Given the description of an element on the screen output the (x, y) to click on. 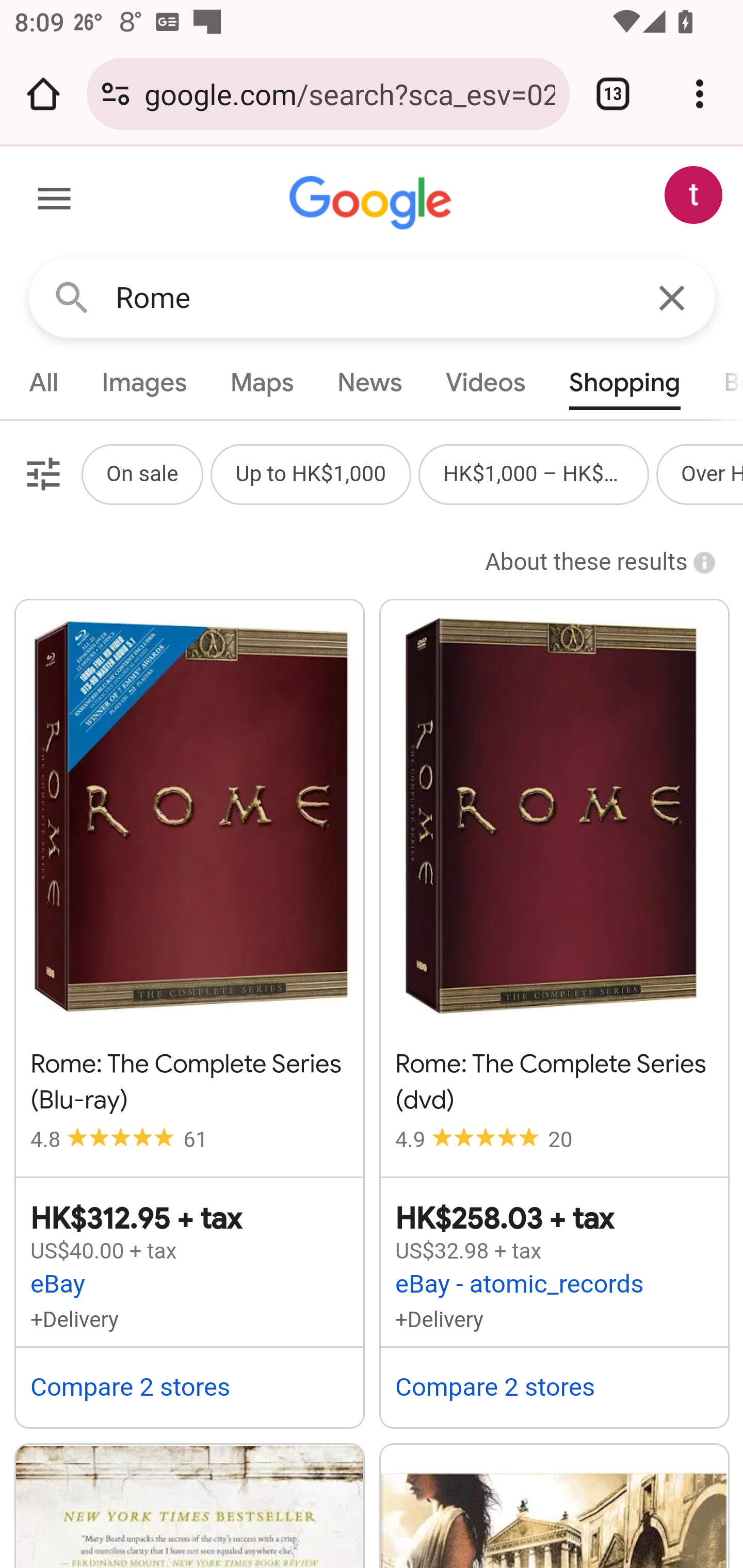
Open the home page (43, 93)
Connection is secure (115, 93)
Switch or close tabs (612, 93)
Customize and control Google Chrome (699, 93)
Main menu (54, 202)
Google (372, 203)
Google Search (71, 296)
Clear Search (672, 296)
Rome (372, 297)
All (43, 382)
Images (144, 382)
Maps (261, 382)
News (369, 382)
Videos (485, 382)
Filters.0 filters applied. (41, 473)
On sale (141, 473)
Up to HK$1,000 (310, 473)
HK$1,000 – HK$3,500 (533, 473)
Compare 2 stores (129, 1386)
Compare 2 stores (494, 1386)
